Given the description of an element on the screen output the (x, y) to click on. 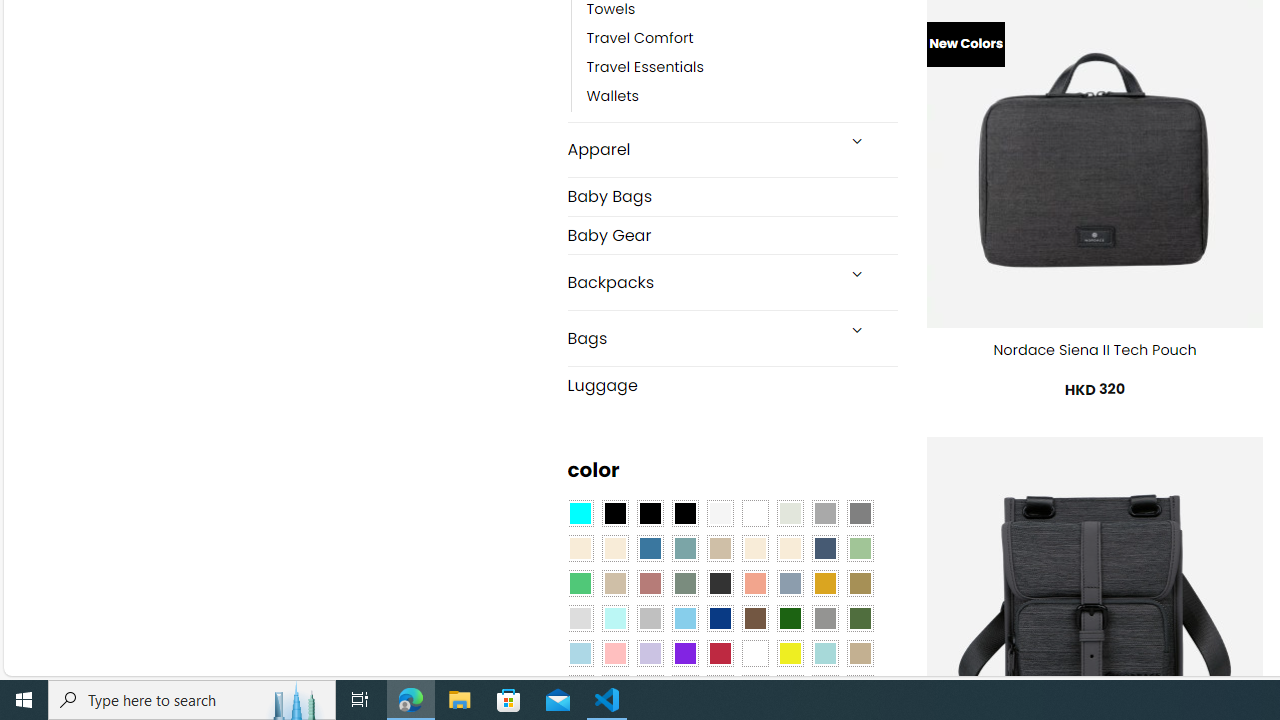
Dusty Blue (789, 583)
Baby Gear (732, 235)
Baby Gear (732, 234)
Blue (650, 548)
All Gray (859, 514)
Travel Essentials (742, 67)
Yellow (789, 653)
Coral (755, 583)
Brownie (719, 548)
Travel Comfort (742, 38)
Travel Comfort (639, 38)
Luggage (732, 384)
Emerald Green (579, 583)
Wallets (613, 97)
Navy Blue (719, 619)
